Given the description of an element on the screen output the (x, y) to click on. 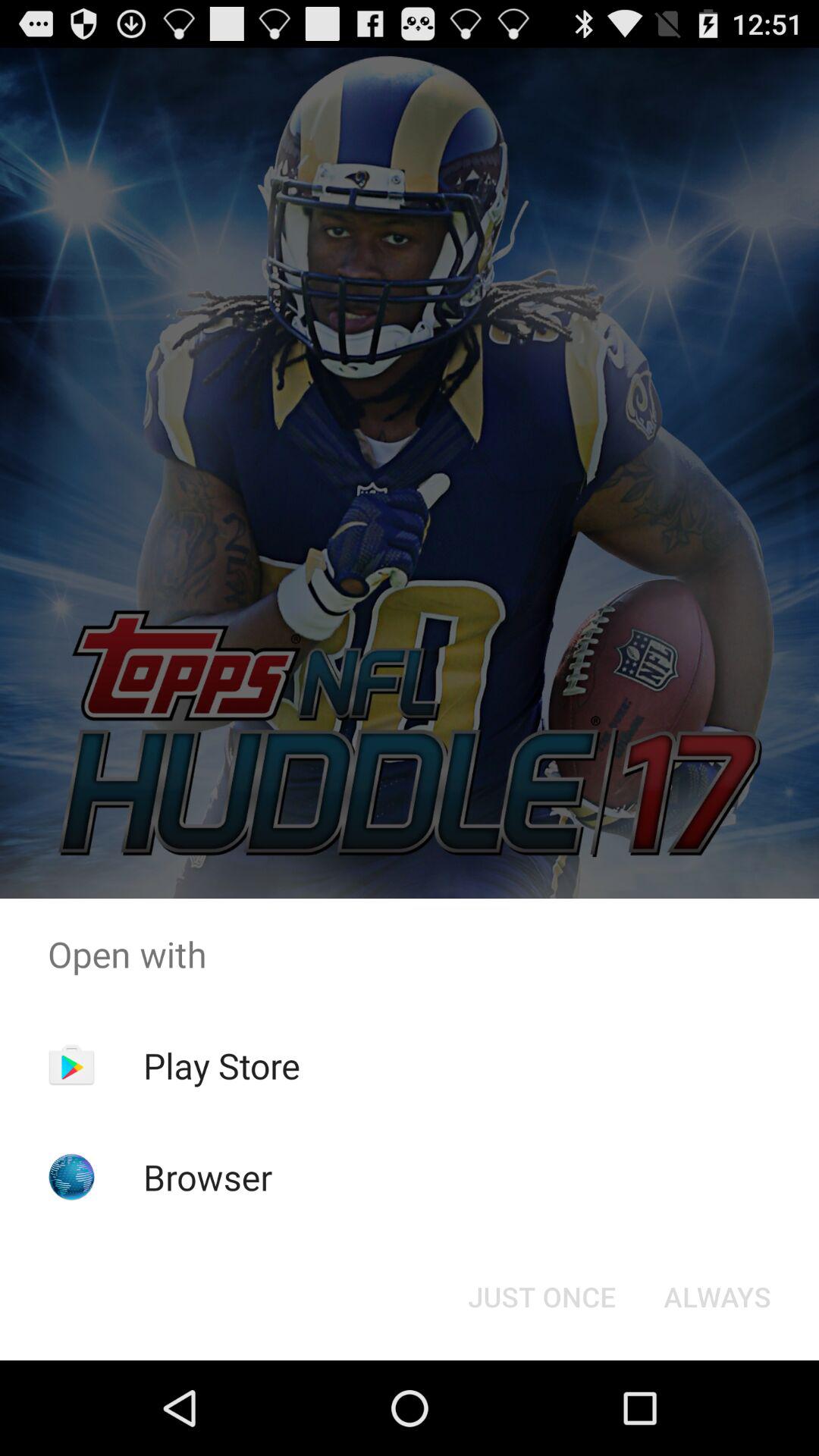
click the app below open with item (221, 1065)
